Given the description of an element on the screen output the (x, y) to click on. 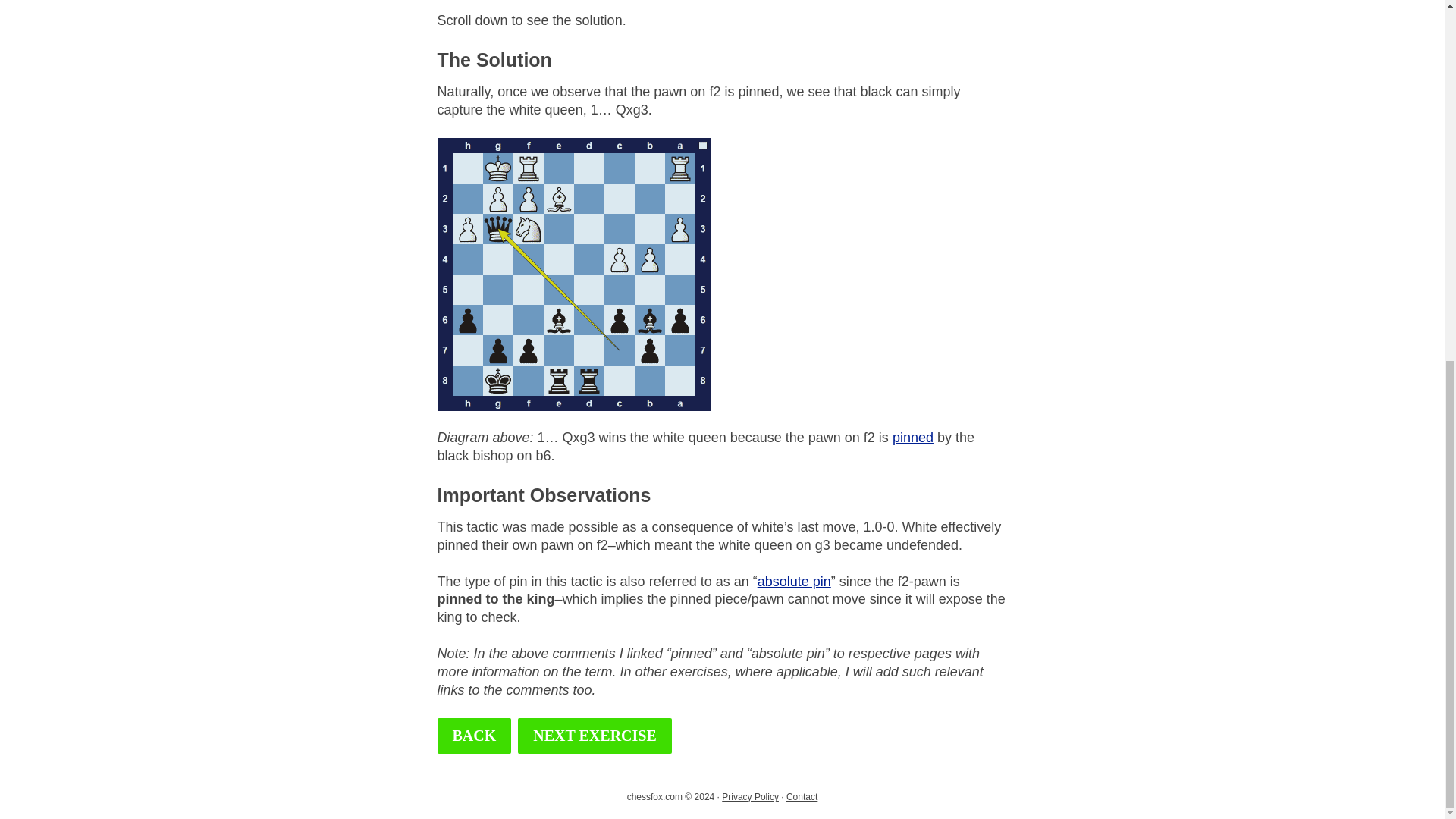
Contact (801, 796)
NEXT EXERCISE (594, 735)
pinned (912, 437)
BACK (473, 735)
Privacy Policy (750, 796)
absolute pin (794, 581)
